Given the description of an element on the screen output the (x, y) to click on. 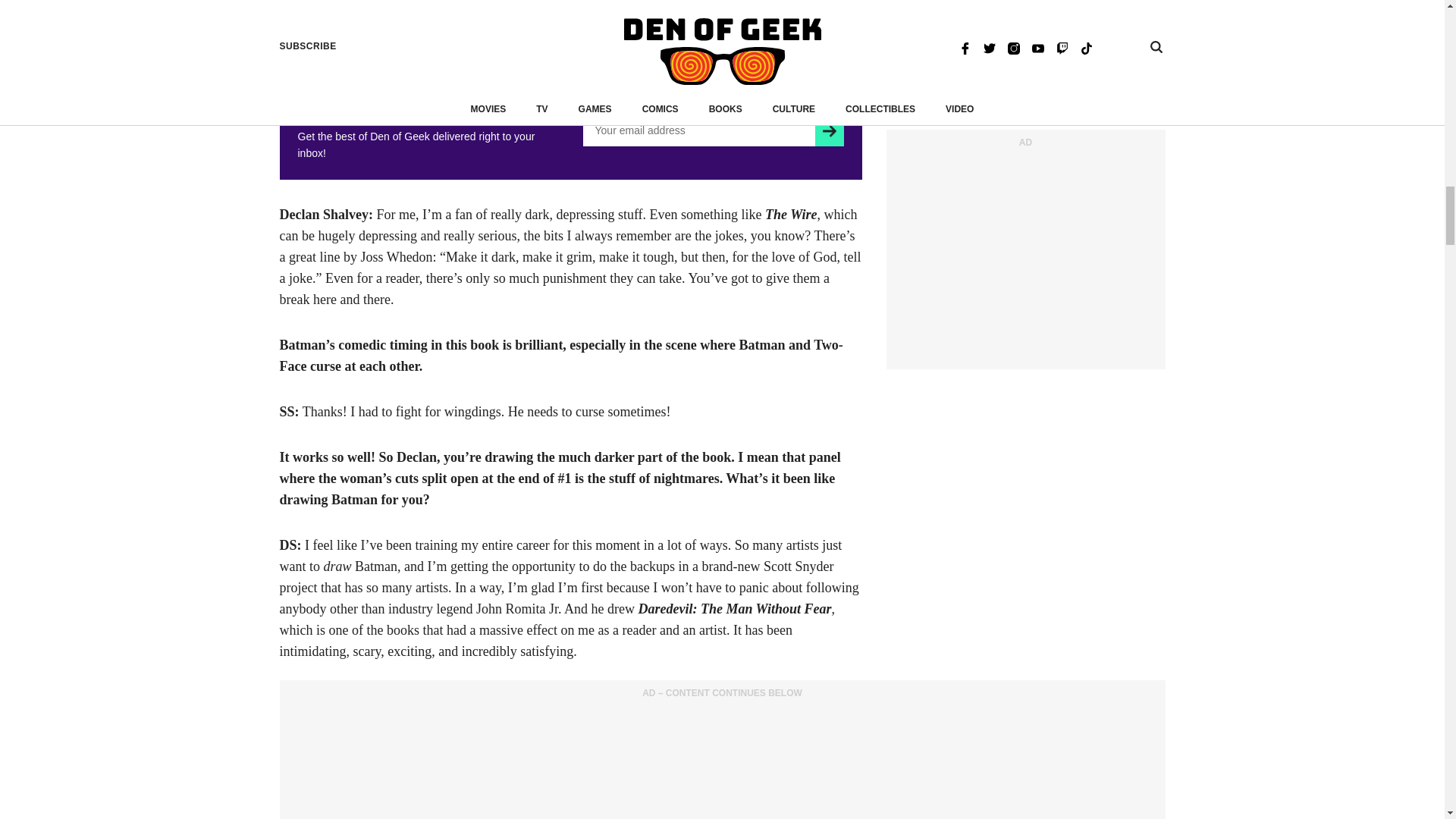
Subscribe (829, 131)
